Given the description of an element on the screen output the (x, y) to click on. 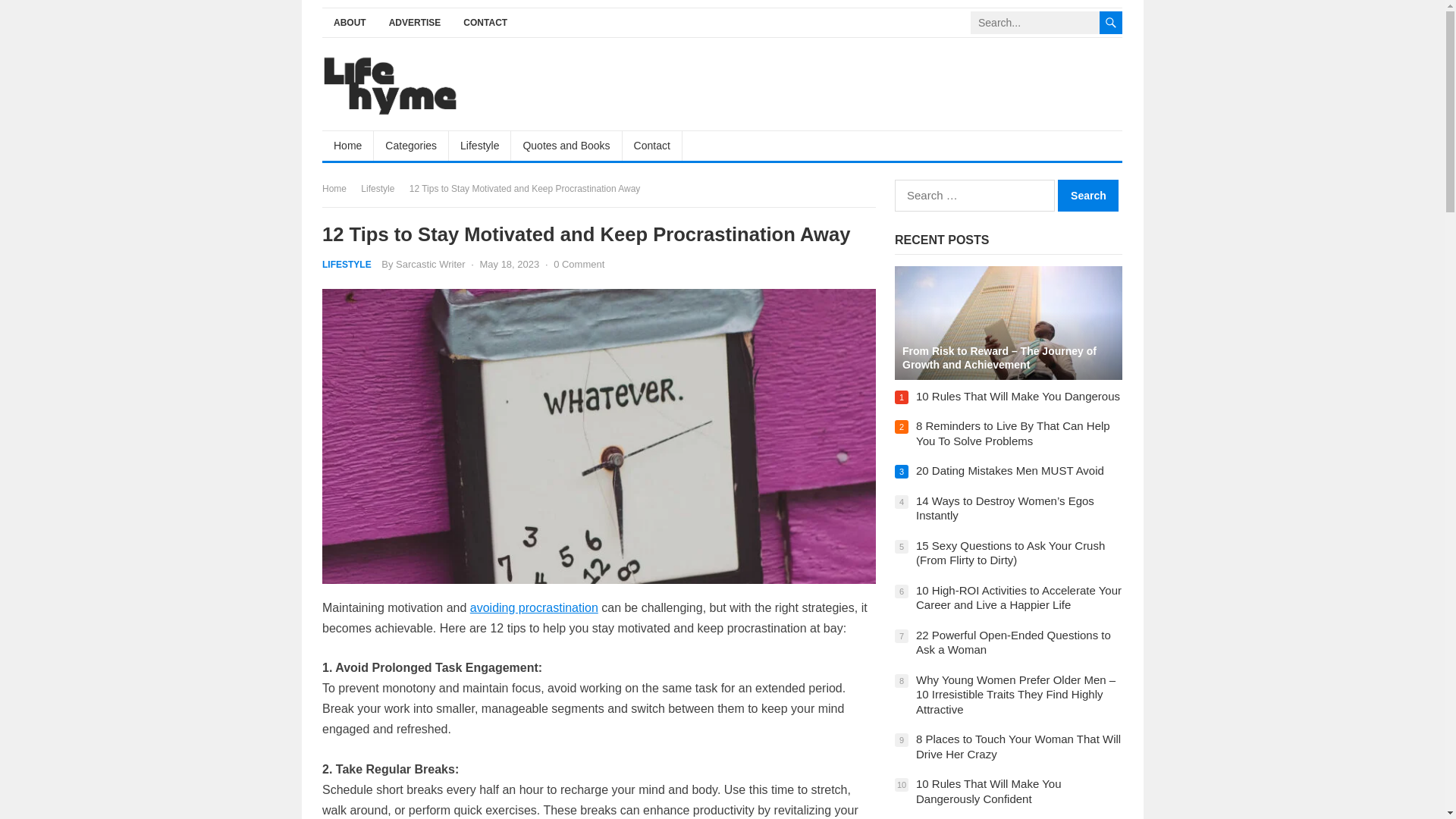
ABOUT (349, 22)
Lifestyle (382, 188)
Search (1088, 195)
ADVERTISE (414, 22)
Lifestyle (479, 145)
Home (347, 145)
0 Comment (578, 264)
LIFESTYLE (346, 264)
Categories (411, 145)
Contact (652, 145)
Home (338, 188)
Quotes and Books (566, 145)
Posts by Sarcastic Writer (430, 264)
Sarcastic Writer (430, 264)
CONTACT (484, 22)
